Given the description of an element on the screen output the (x, y) to click on. 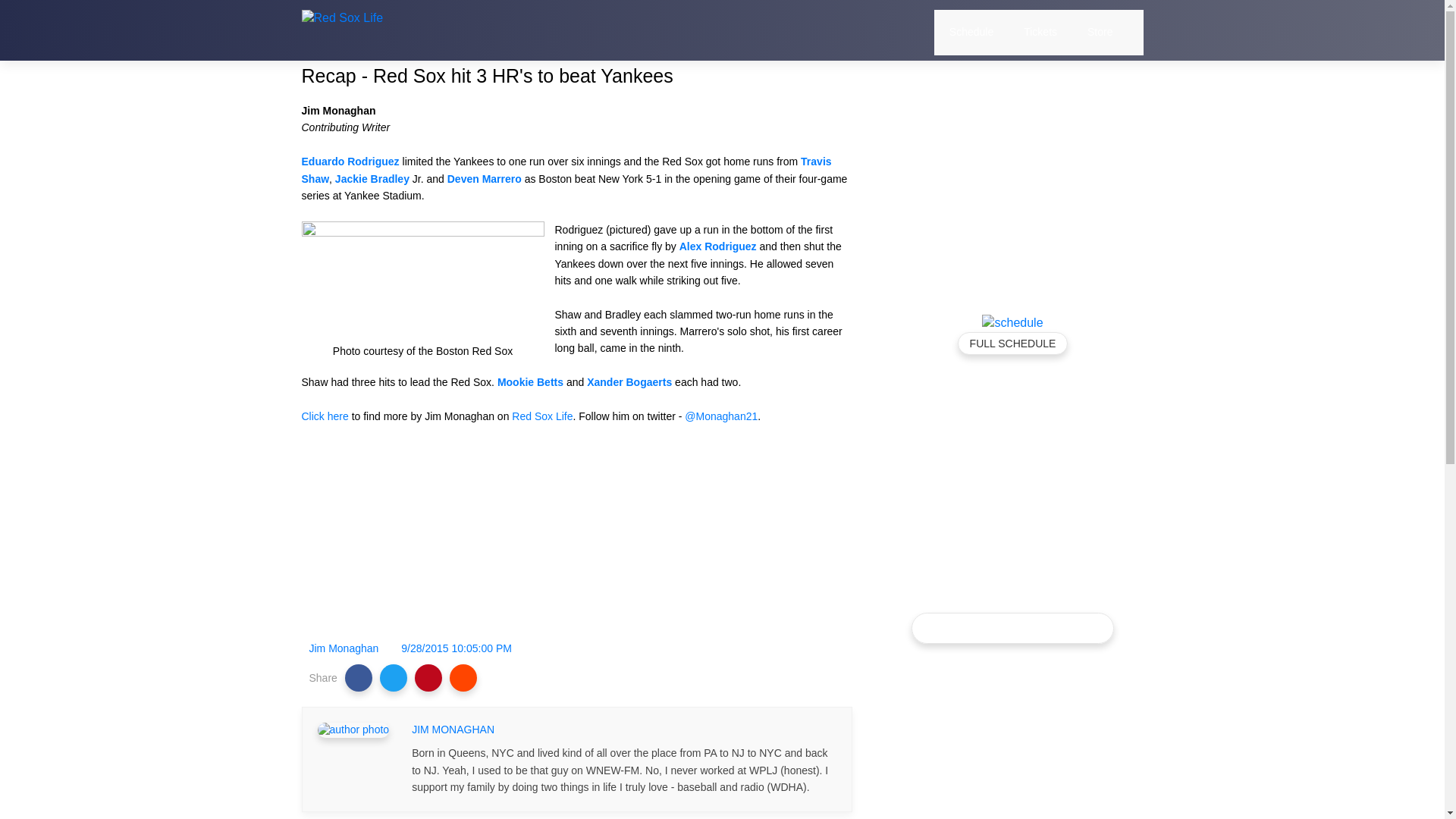
Schedule (970, 32)
Deven Marrero (483, 178)
Share to Reddit (463, 677)
FOLLOW ON TWITTER  152,651 (1013, 627)
Share to Twitter (393, 677)
Advertisement (576, 546)
permanent link (456, 648)
Alex Rodriguez (718, 246)
JIM MONAGHAN (453, 729)
Xander Bogaerts (628, 381)
Eduardo Rodriguez (349, 161)
Click here (325, 416)
FULL SCHEDULE (1013, 343)
Share to Pinterest (428, 677)
Red Sox Life (542, 416)
